Given the description of an element on the screen output the (x, y) to click on. 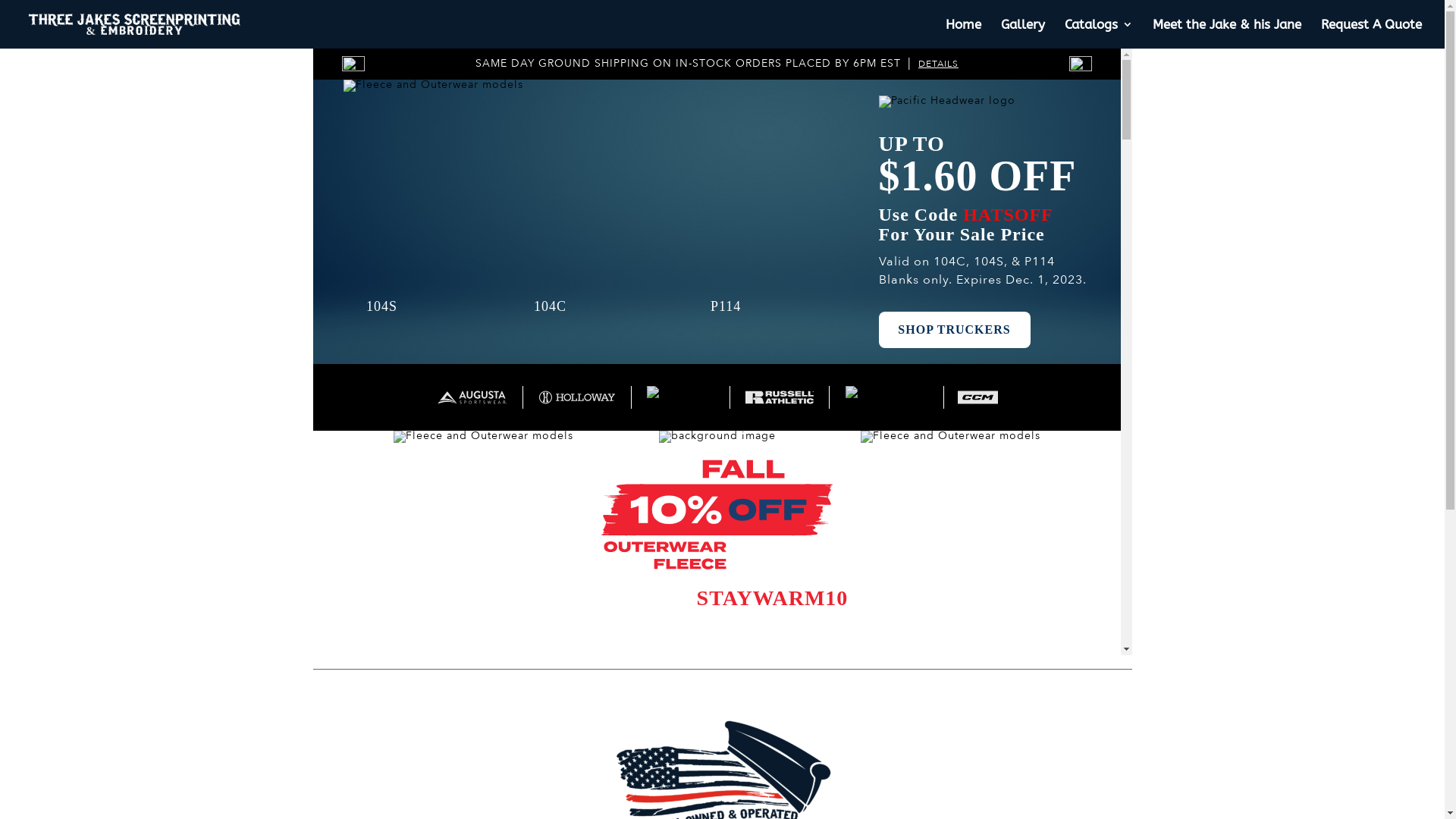
Gallery Element type: text (1022, 33)
Home Element type: text (963, 33)
Request A Quote Element type: text (1371, 33)
Catalogs Element type: text (1098, 33)
Meet the Jake & his Jane Element type: text (1226, 33)
